Given the description of an element on the screen output the (x, y) to click on. 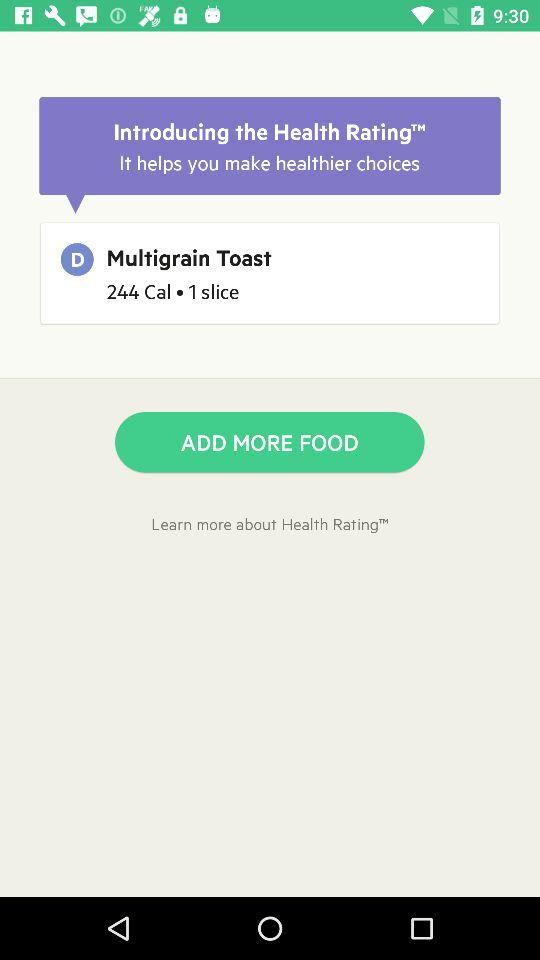
flip until learn more about item (269, 523)
